Given the description of an element on the screen output the (x, y) to click on. 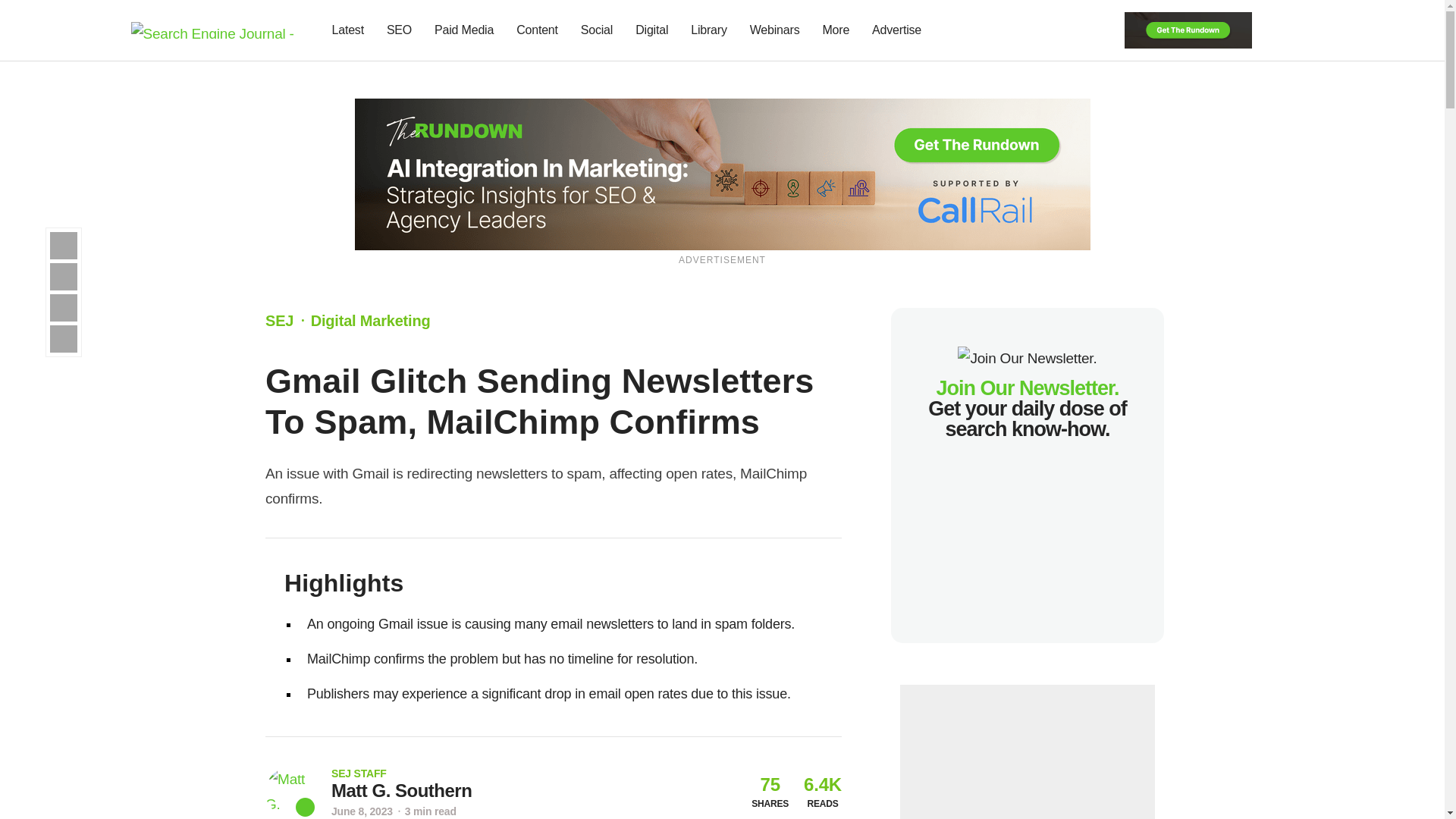
Latest (347, 30)
Go to Author Page (289, 791)
Go to Author Page (401, 790)
Get The Rundown (1187, 28)
Get The Rundown (722, 172)
Subscribe to our Newsletter (1277, 30)
Paid Media (464, 30)
